Given the description of an element on the screen output the (x, y) to click on. 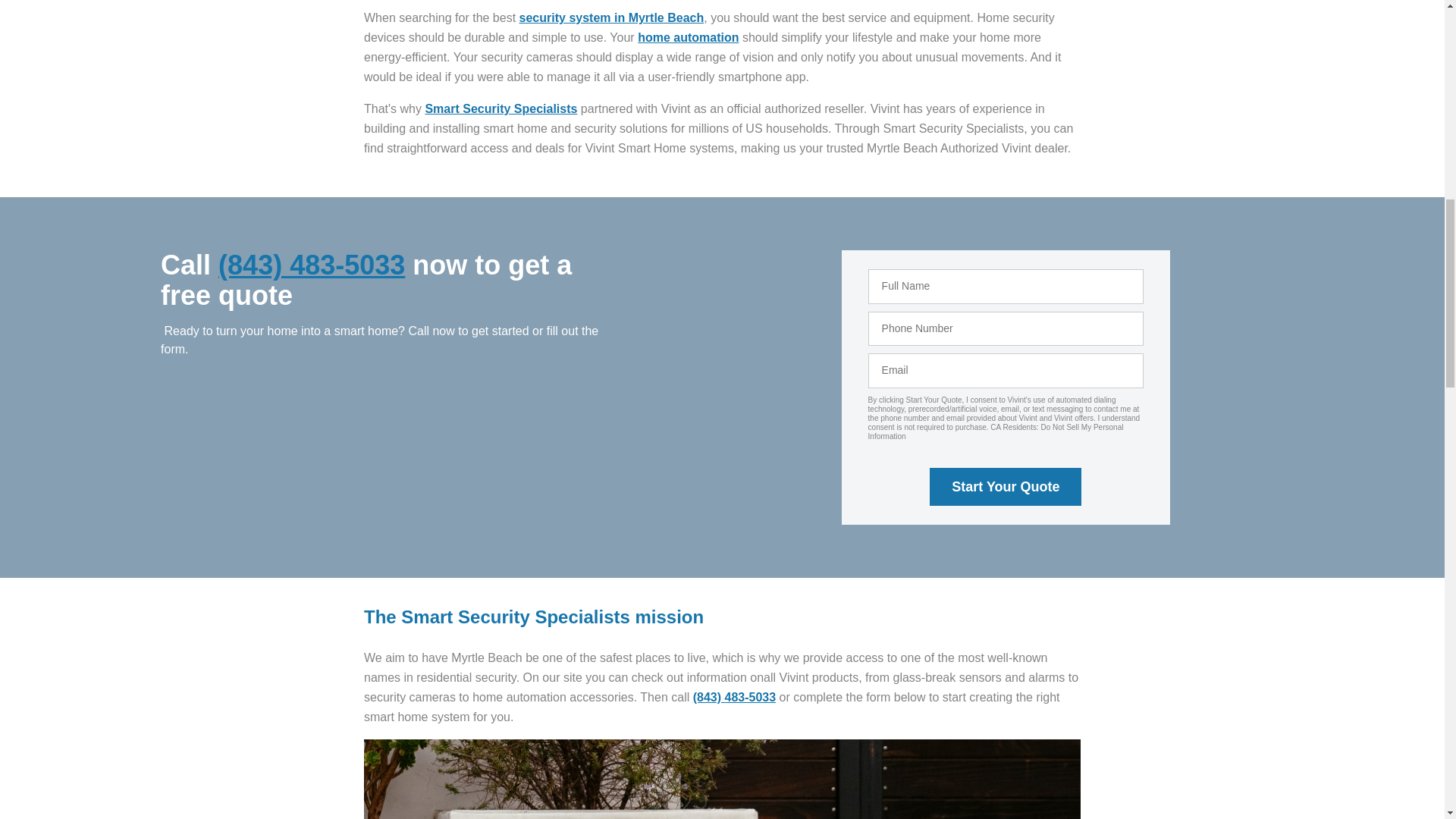
security system in Myrtle Beach (611, 17)
Start Your Quote (1005, 486)
Start Your Quote (1005, 486)
Smart Security Specialists (500, 108)
home automation (687, 37)
